Given the description of an element on the screen output the (x, y) to click on. 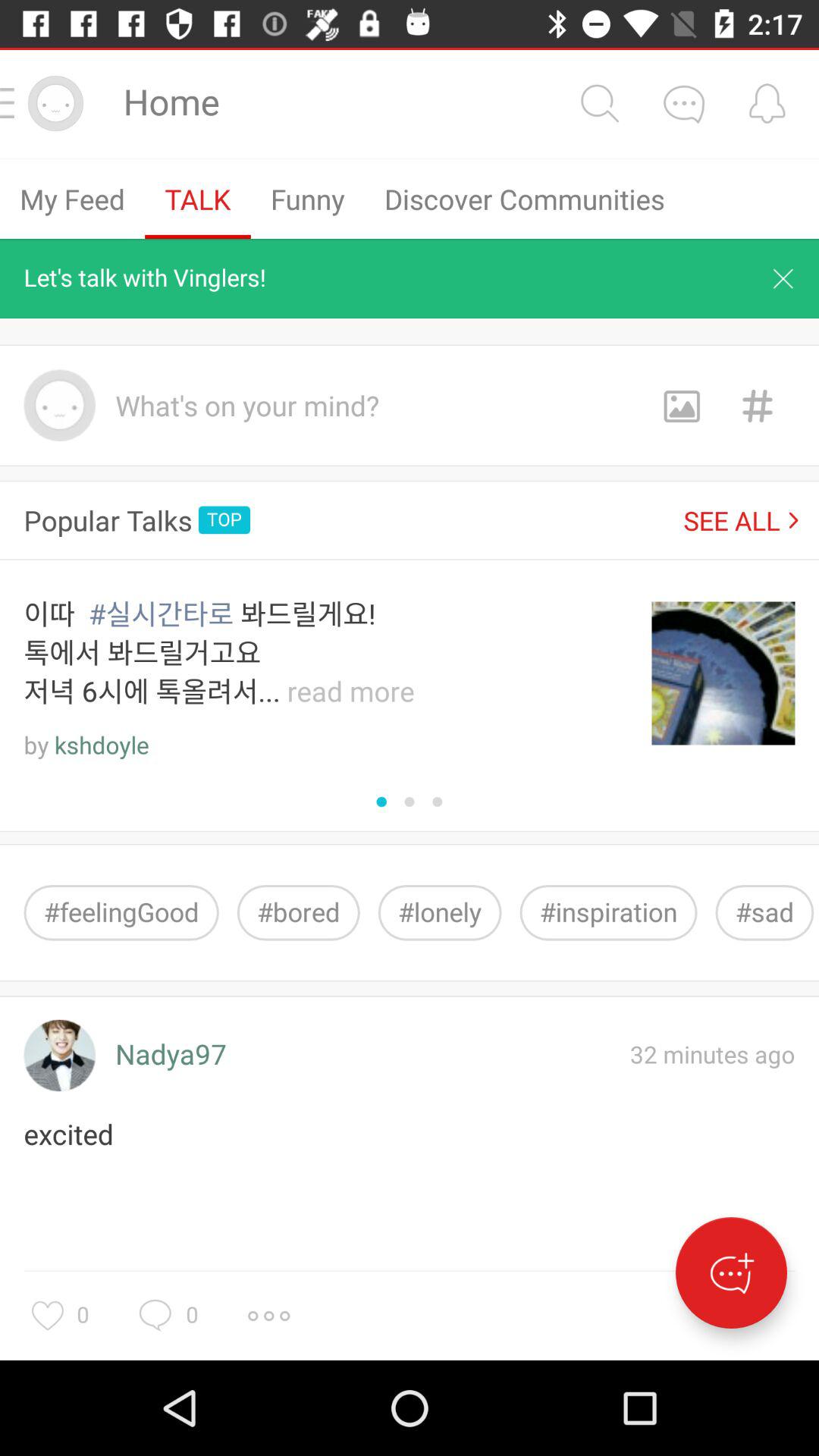
choose the item next to #inspiration icon (764, 912)
